Given the description of an element on the screen output the (x, y) to click on. 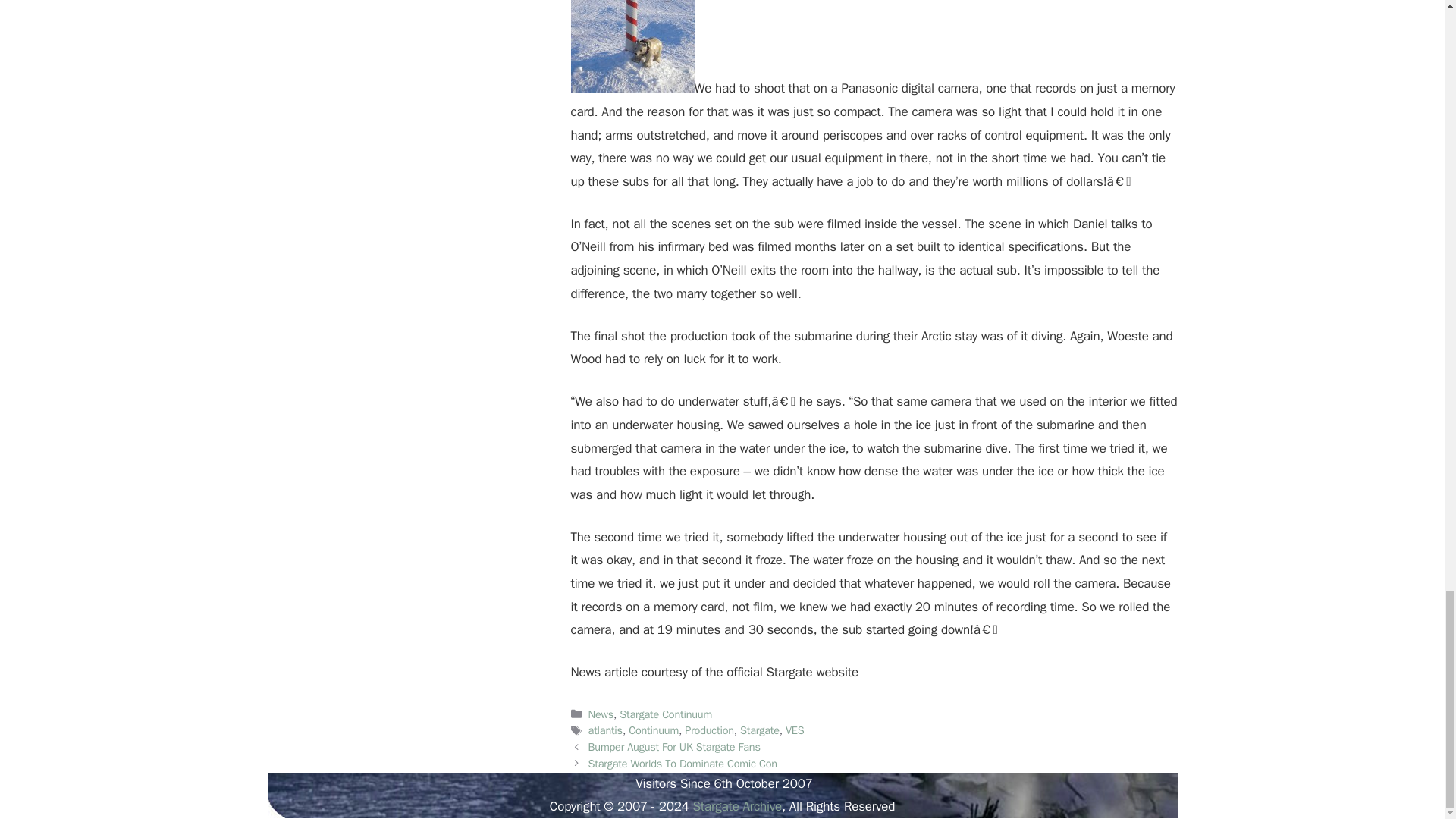
VES (794, 730)
Stargate Worlds To Dominate Comic Con (682, 763)
We are a creative agency with a passion for design (734, 806)
Bumper August For UK Stargate Fans (674, 746)
Production (708, 730)
atlantis (605, 730)
Stargate Continuum (665, 714)
Continuum (653, 730)
Stargate (758, 730)
News (601, 714)
